Given the description of an element on the screen output the (x, y) to click on. 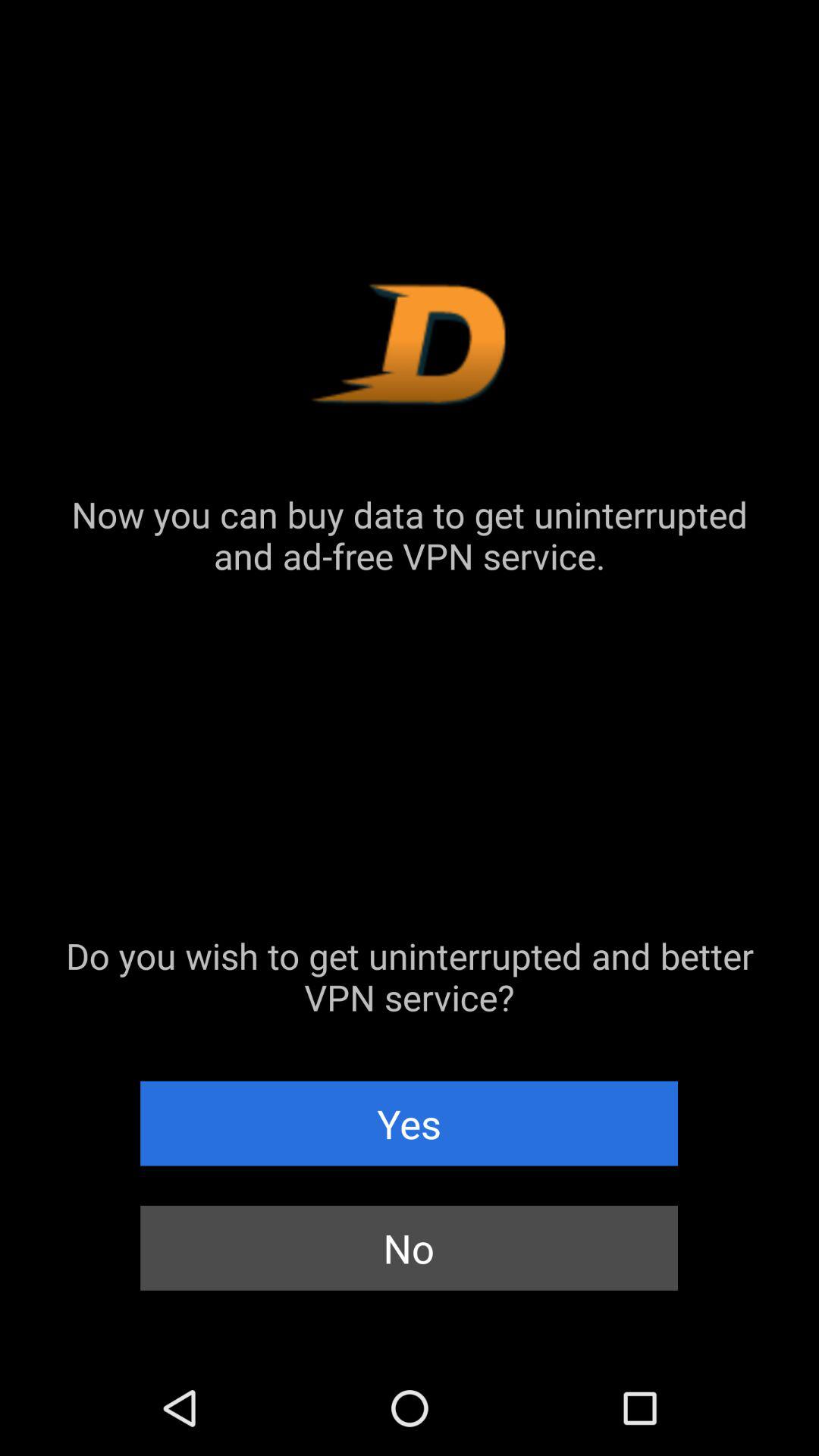
swipe until yes icon (408, 1123)
